Given the description of an element on the screen output the (x, y) to click on. 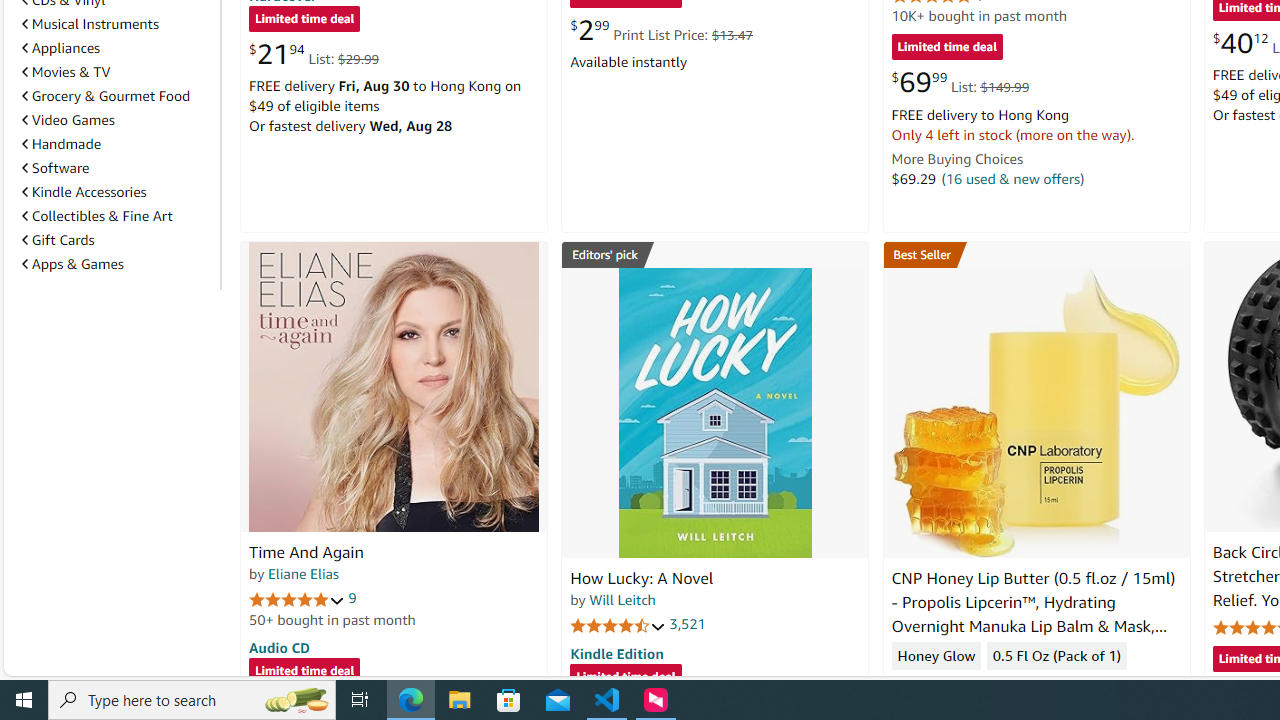
Apps & Games (72, 263)
9 (352, 597)
Will Leitch (621, 599)
Handmade (117, 143)
Grocery & Gourmet Food (105, 96)
5.0 out of 5 stars (297, 598)
Video Games (117, 120)
Collectibles & Fine Art (117, 215)
Video Games (68, 119)
Gift Cards (57, 240)
Time And Again (306, 552)
Grocery & Gourmet Food (117, 95)
Kindle Edition (616, 653)
Movies & TV (117, 71)
Editors' pick Best Mystery, Thriller & Suspense (715, 254)
